Given the description of an element on the screen output the (x, y) to click on. 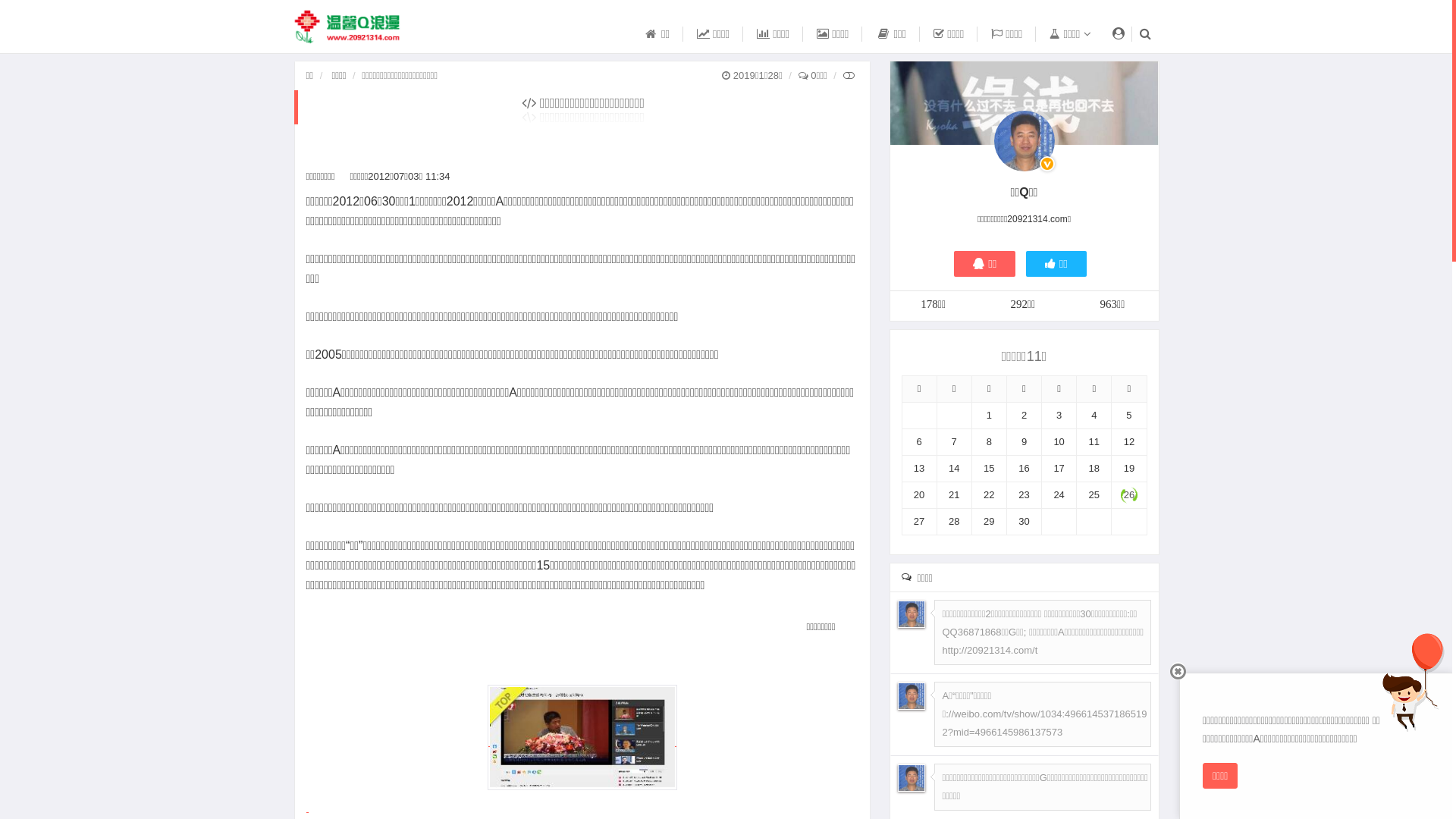
  Element type: text (307, 806)
